Given the description of an element on the screen output the (x, y) to click on. 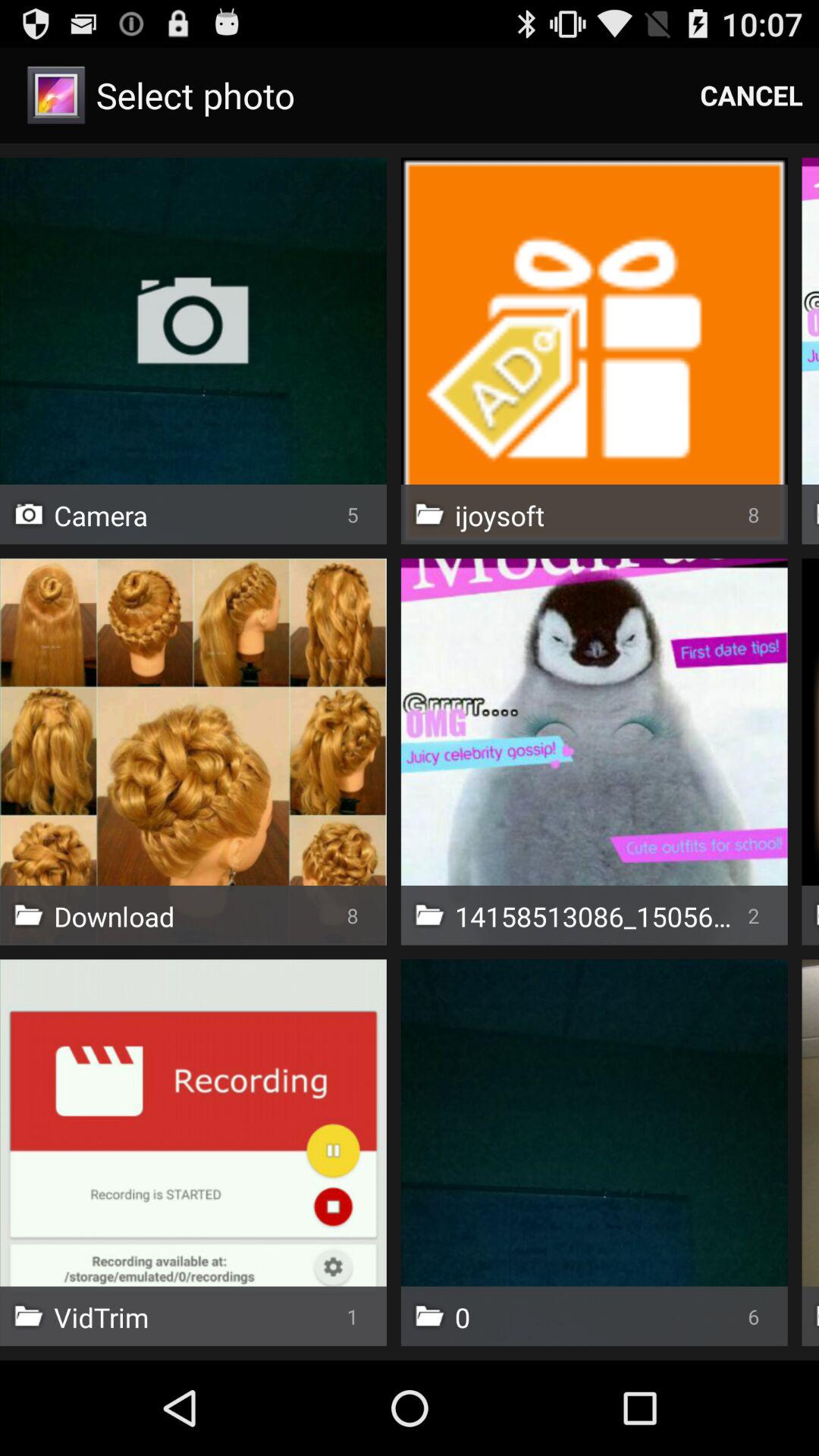
launch icon next to select photo app (751, 95)
